Given the description of an element on the screen output the (x, y) to click on. 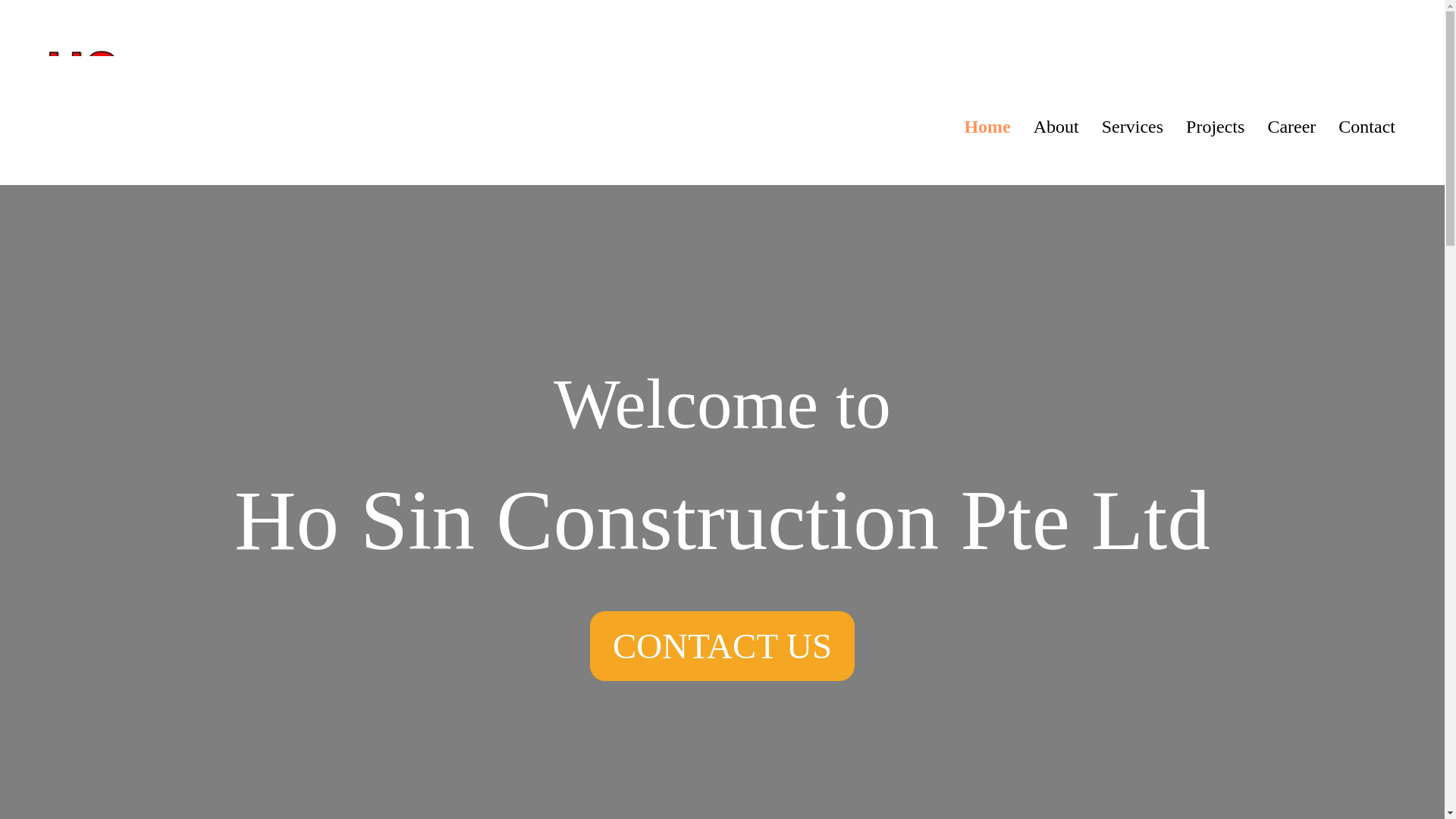
Home (986, 126)
Career (1291, 126)
Projects (1215, 126)
CONTACT US (721, 645)
Services (1132, 126)
Contact (1366, 126)
About (1055, 126)
